Given the description of an element on the screen output the (x, y) to click on. 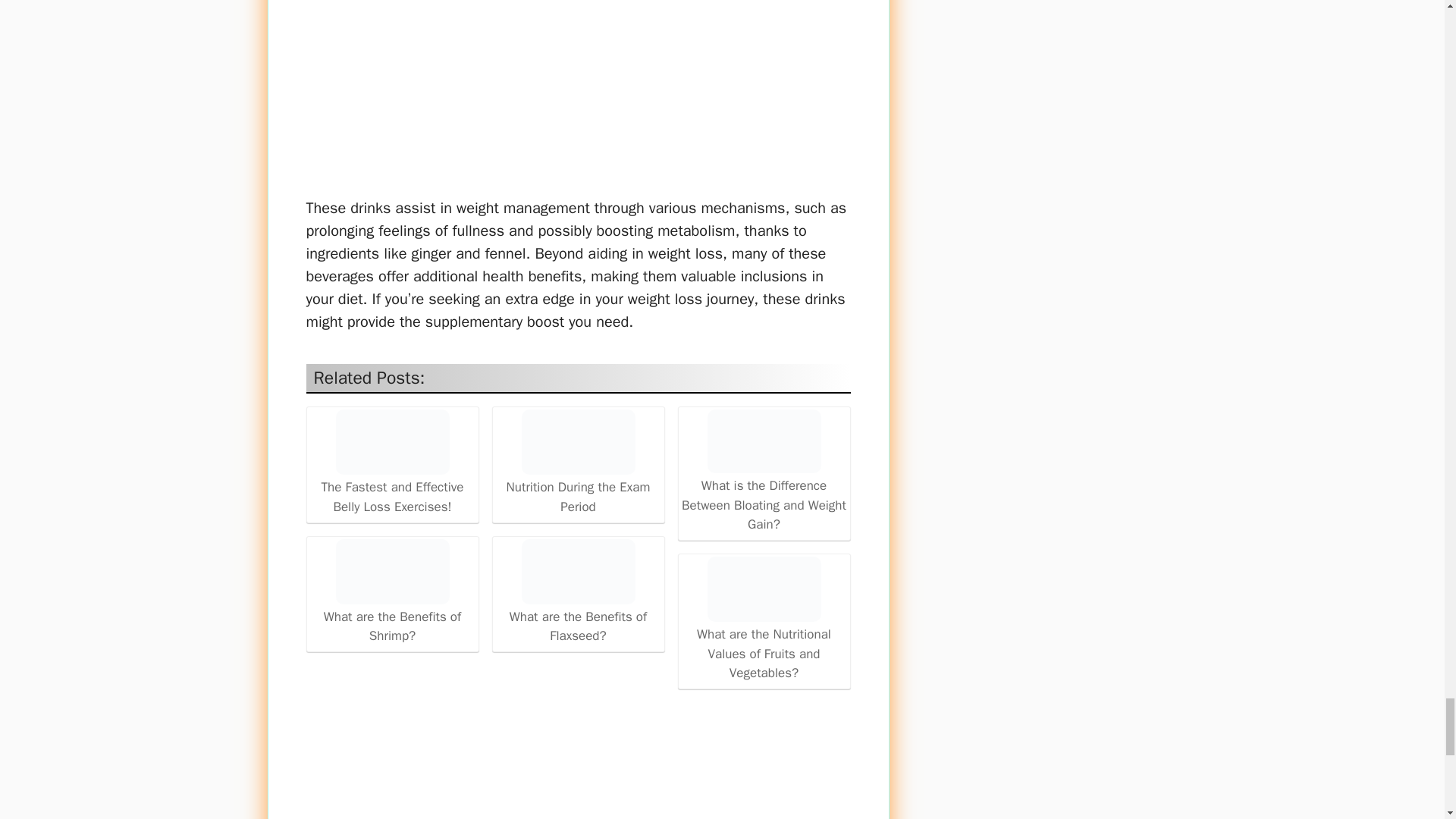
What is the Difference Between Bloating and Weight Gain? (764, 471)
What are the Benefits of Shrimp? (392, 592)
What are the Benefits of Flaxseed? (578, 592)
What are the Benefits of Shrimp? (391, 571)
Nutrition During the Exam Period (578, 462)
Nutrition During the Exam Period (577, 442)
The Fastest and Effective Belly Loss Exercises! (392, 462)
What are the Nutritional Values of Fruits and Vegetables? (764, 619)
What is the Difference Between Bloating and Weight Gain? (763, 441)
The Fastest and Effective Belly Loss Exercises! (391, 442)
